Given the description of an element on the screen output the (x, y) to click on. 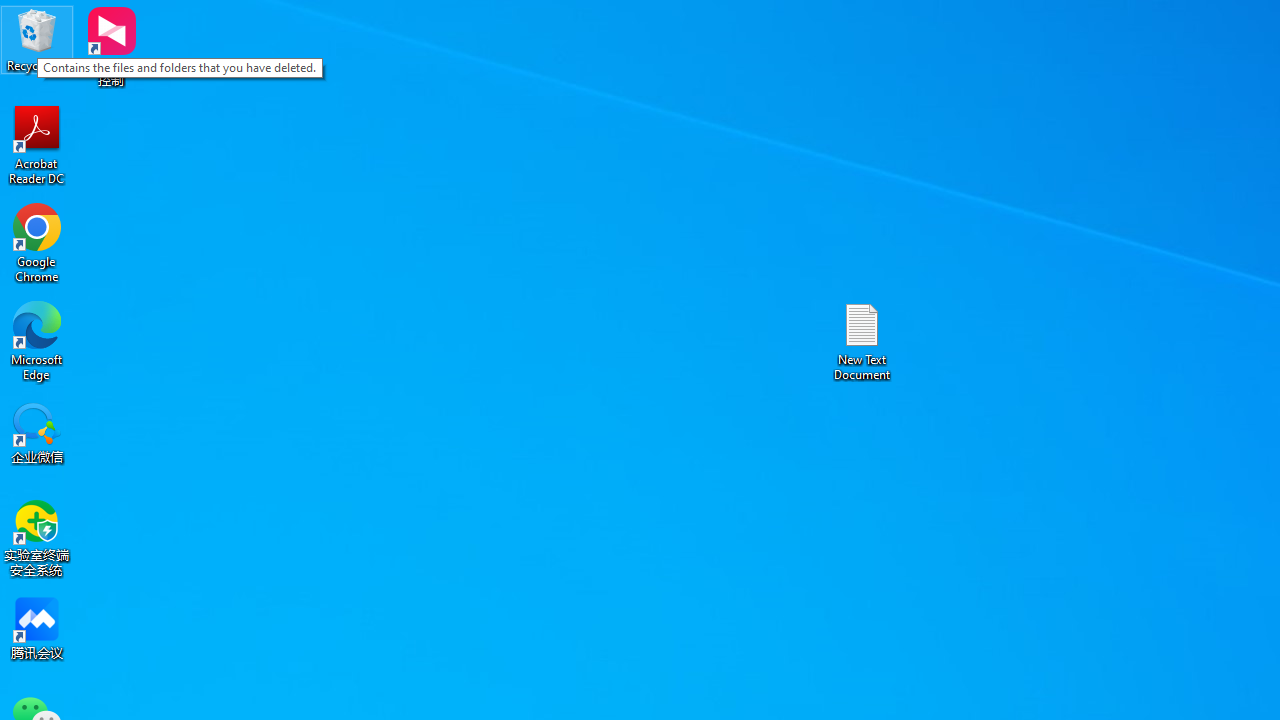
Google Chrome (37, 242)
Microsoft Edge (37, 340)
Recycle Bin (37, 39)
New Text Document (861, 340)
Acrobat Reader DC (37, 144)
